Given the description of an element on the screen output the (x, y) to click on. 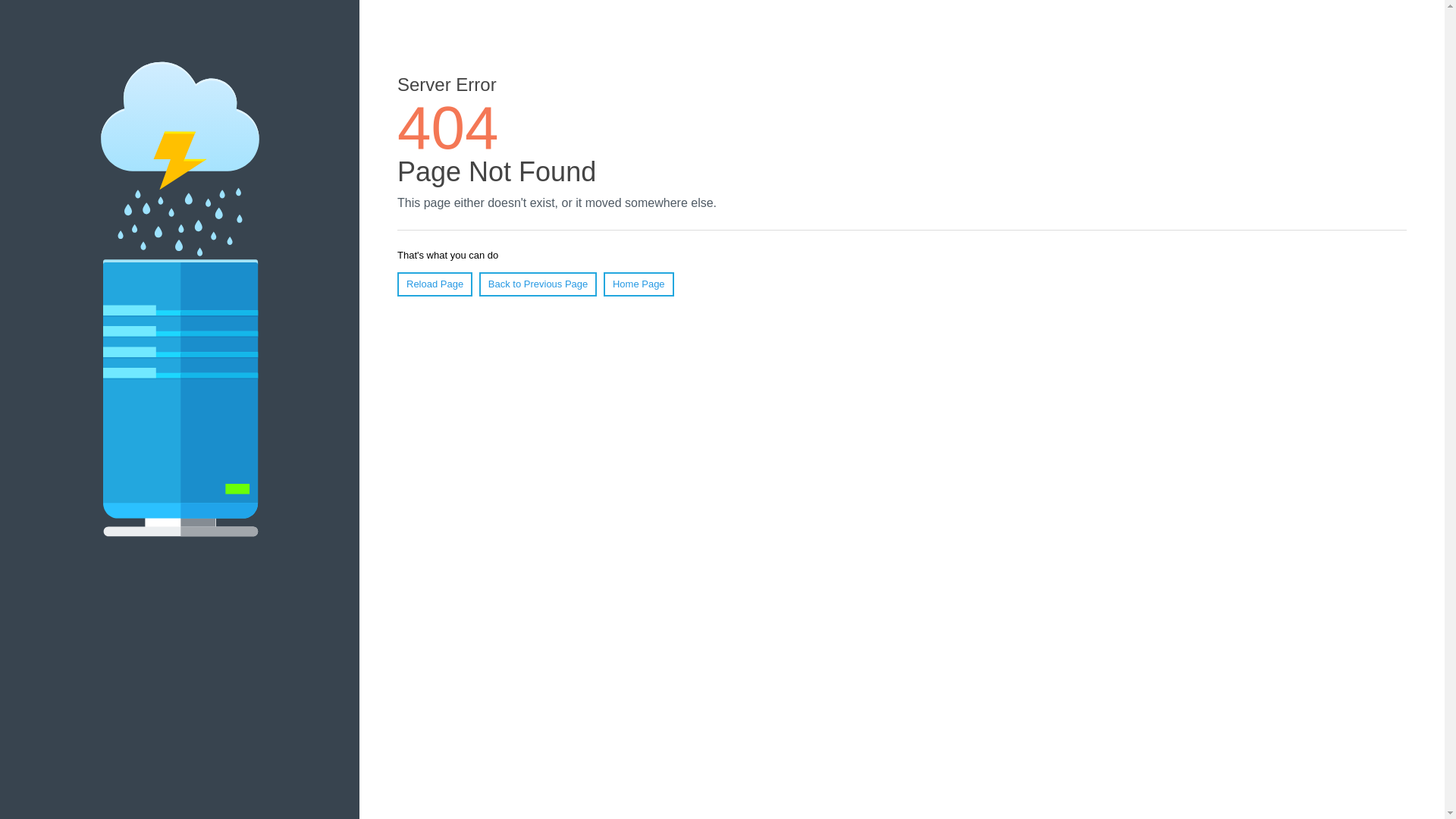
Reload Page Element type: text (434, 284)
Home Page Element type: text (638, 284)
Back to Previous Page Element type: text (538, 284)
